Given the description of an element on the screen output the (x, y) to click on. 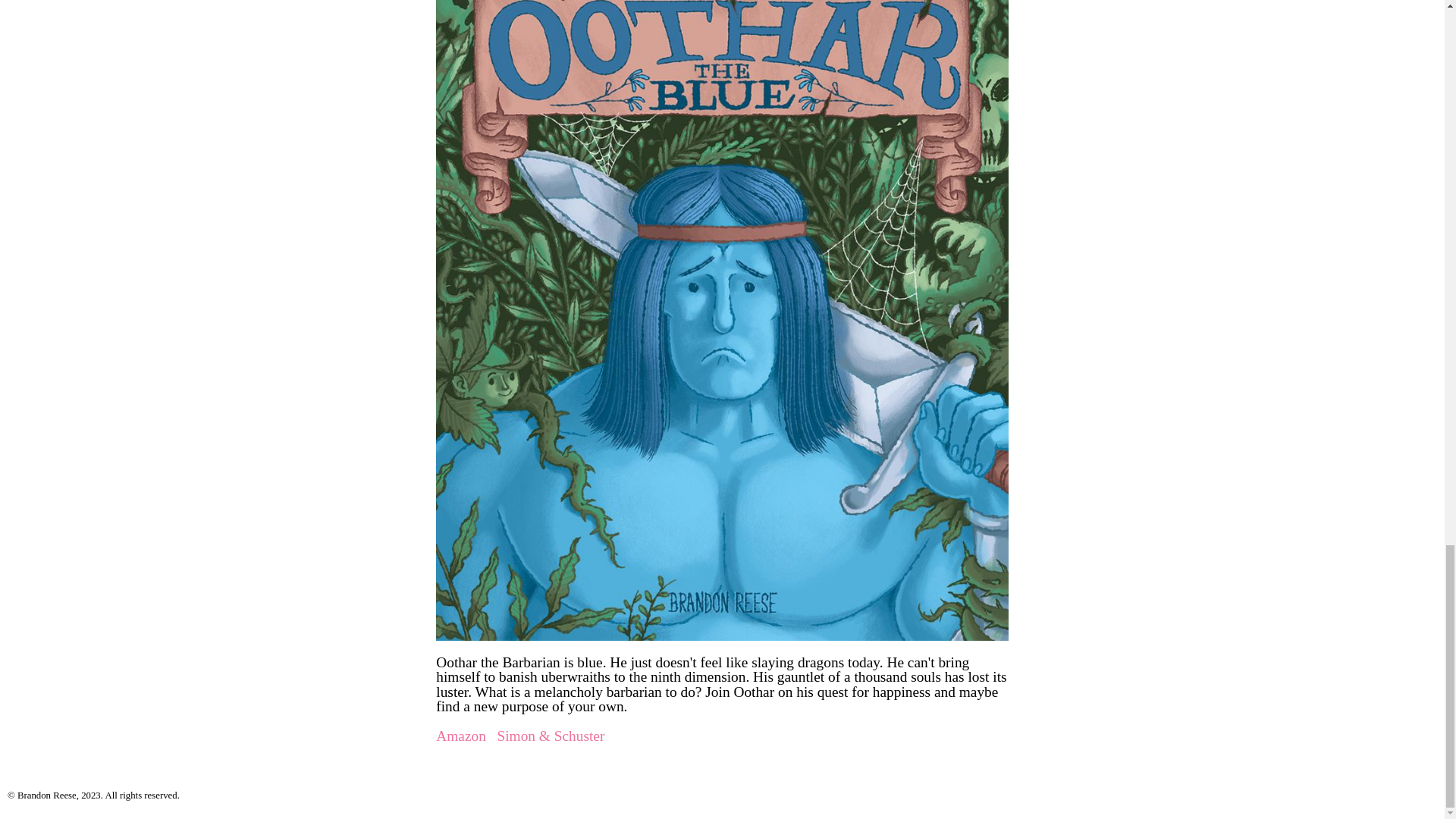
Amazon (460, 735)
